Given the description of an element on the screen output the (x, y) to click on. 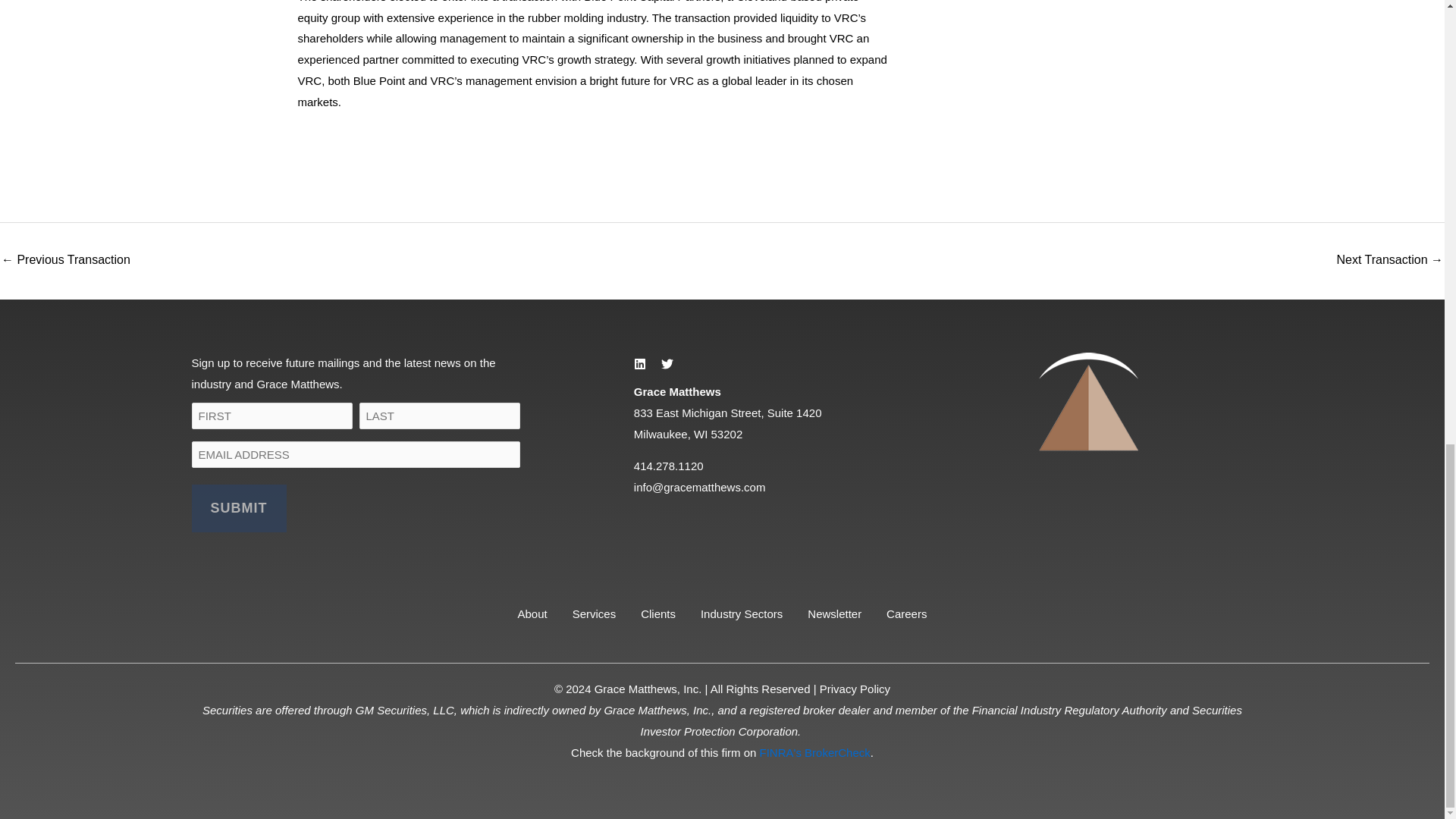
H.B. Fuller Company (66, 261)
Submit (237, 508)
Epoxies, Etc. (1389, 261)
